Given the description of an element on the screen output the (x, y) to click on. 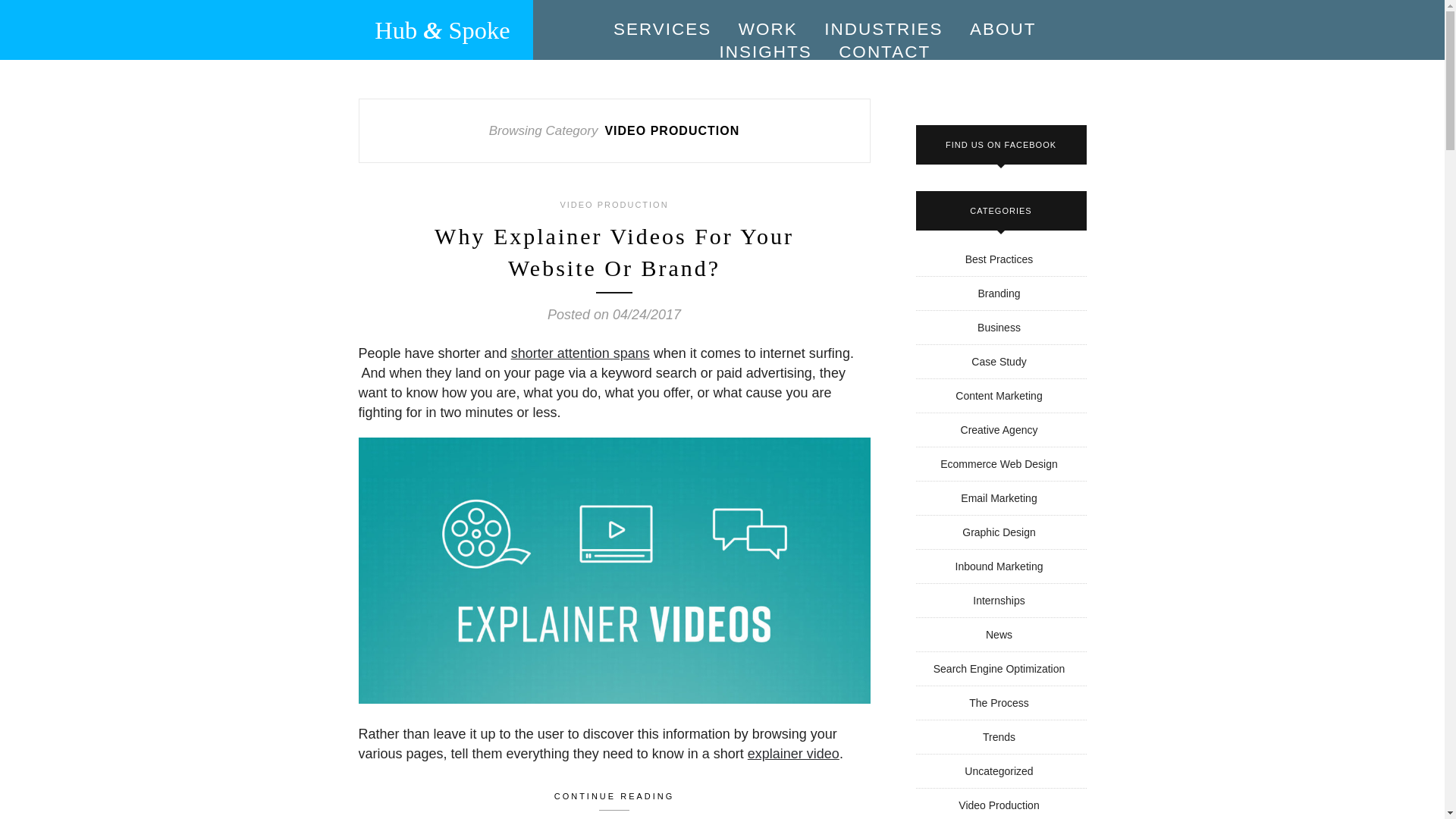
Why Explainer Videos For Your Website Or Brand? (613, 251)
INSIGHTS (764, 51)
WORK (767, 28)
SERVICES (661, 28)
CONTINUE READING (613, 798)
explainer video (794, 753)
CONTACT (884, 51)
VIDEO PRODUCTION (613, 204)
INDUSTRIES (883, 28)
shorter attention spans (580, 353)
